Given the description of an element on the screen output the (x, y) to click on. 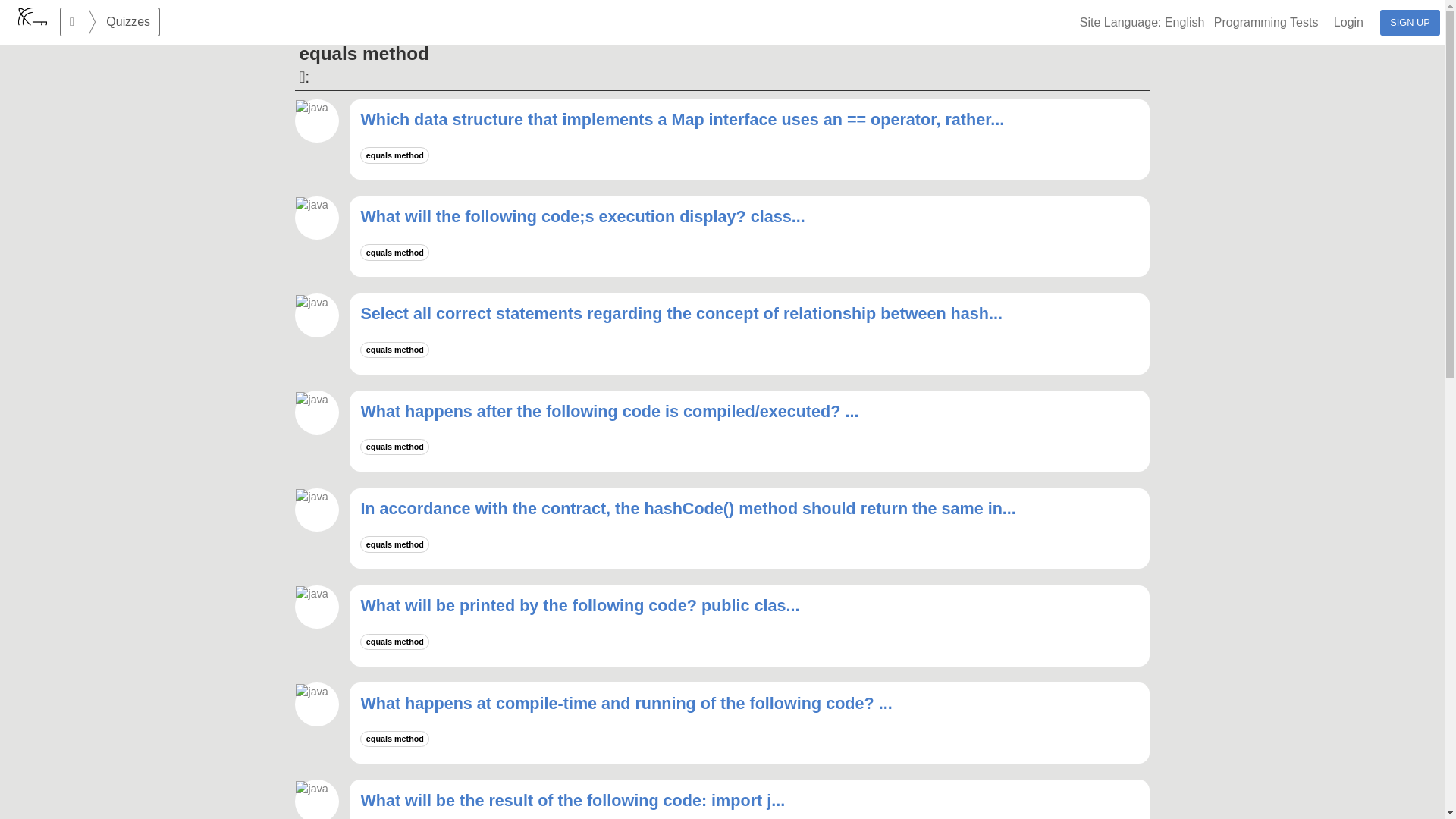
Quizzes (123, 21)
SIGN UP (1409, 22)
equals method (395, 445)
Login (1354, 22)
equals method (395, 154)
Programming Tests (1272, 22)
Login (1354, 22)
equals method (395, 640)
equals method (395, 543)
Site Language: English (1145, 22)
